Given the description of an element on the screen output the (x, y) to click on. 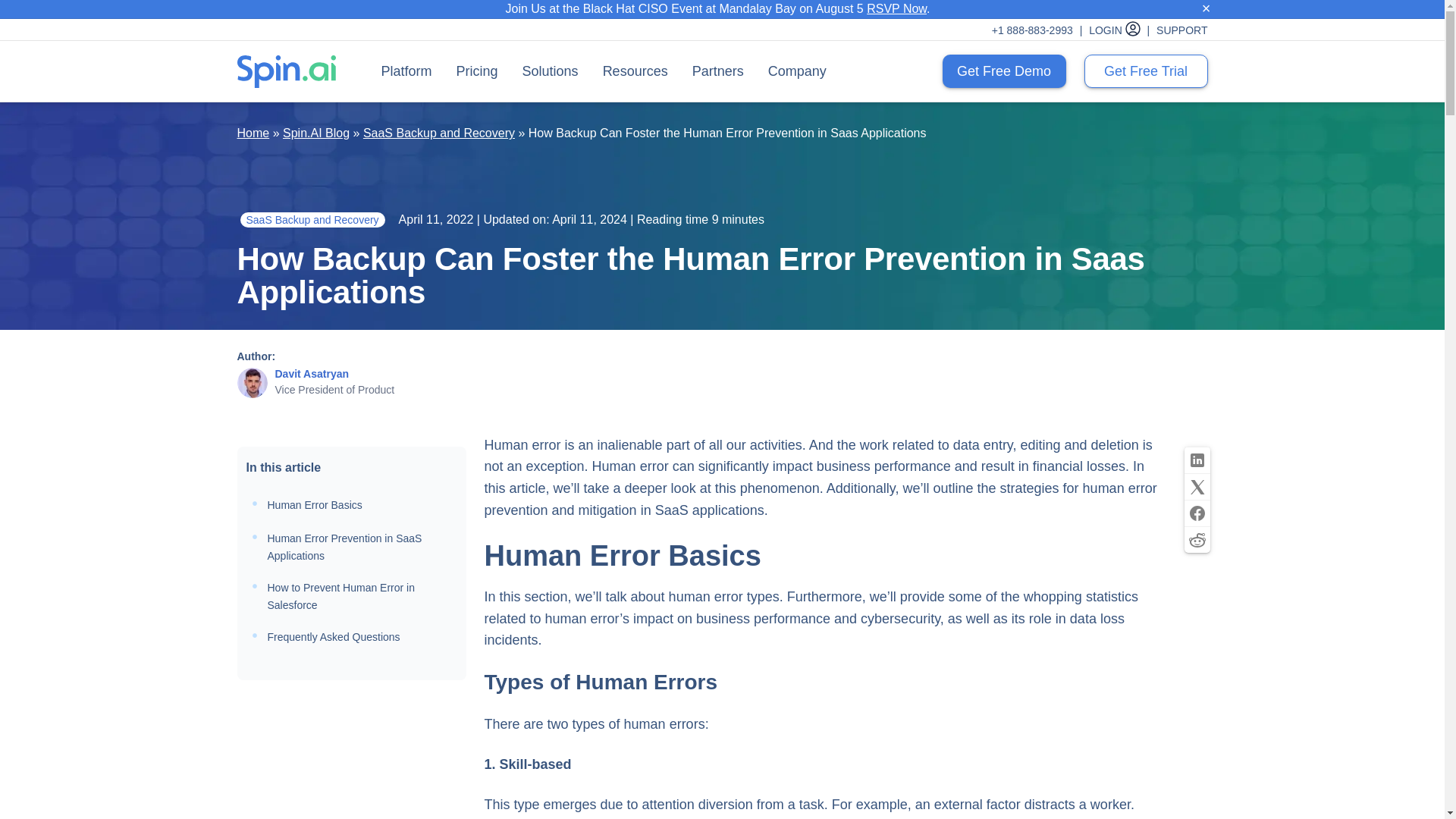
SaaS Backup and Recovery (438, 132)
Platform (406, 70)
RSVP Now (896, 8)
Solutions (551, 70)
Resources (635, 70)
Spin.ai Home (284, 71)
Posts by Davit Asatryan (312, 373)
SUPPORT (1181, 30)
LOGIN (1121, 30)
Pricing (477, 70)
Home (252, 132)
Spin.AI Blog (315, 132)
